Given the description of an element on the screen output the (x, y) to click on. 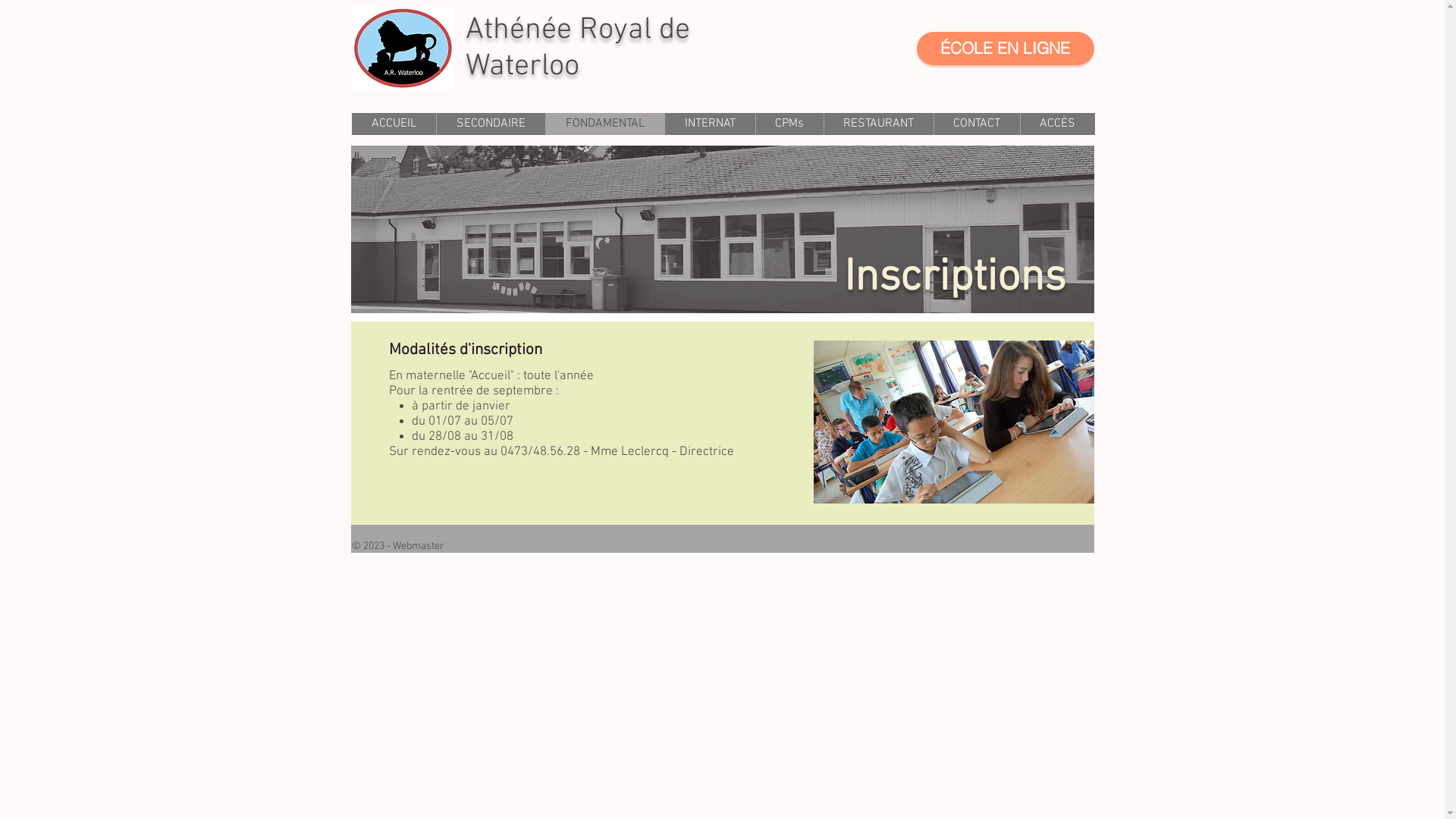
SECONDAIRE Element type: text (489, 123)
INTERNAT Element type: text (709, 123)
CONTACT Element type: text (975, 123)
019.JPG Element type: hover (721, 231)
ACCUEIL Element type: text (393, 123)
CPMs Element type: text (789, 123)
FONDAMENTAL Element type: text (603, 123)
RESTAURANT Element type: text (878, 123)
